Given the description of an element on the screen output the (x, y) to click on. 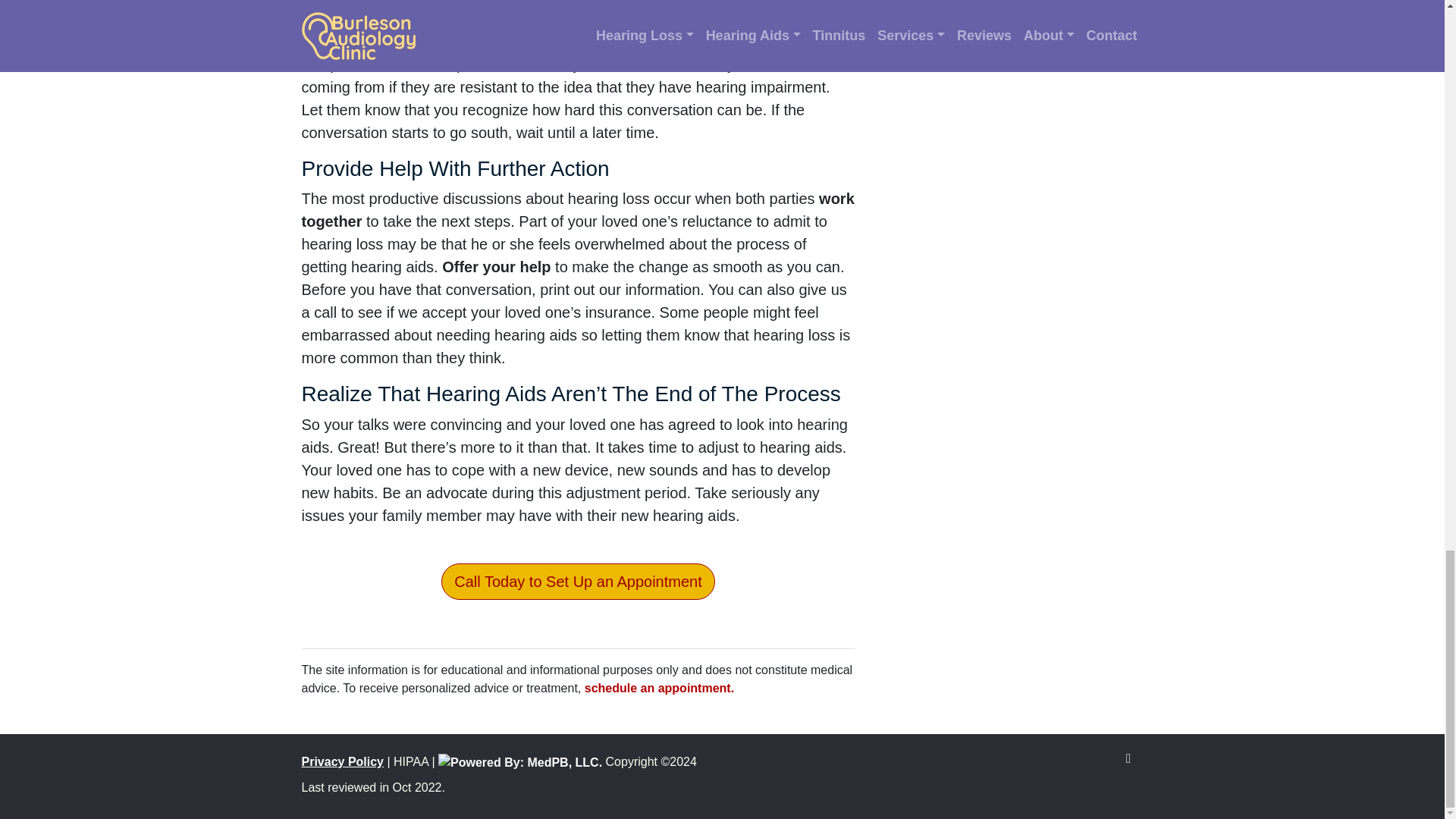
Call Today to Set Up an Appointment (577, 581)
schedule an appointment. (659, 687)
MedPB: Medical Practice Building, Marketing, Websites (520, 761)
